Given the description of an element on the screen output the (x, y) to click on. 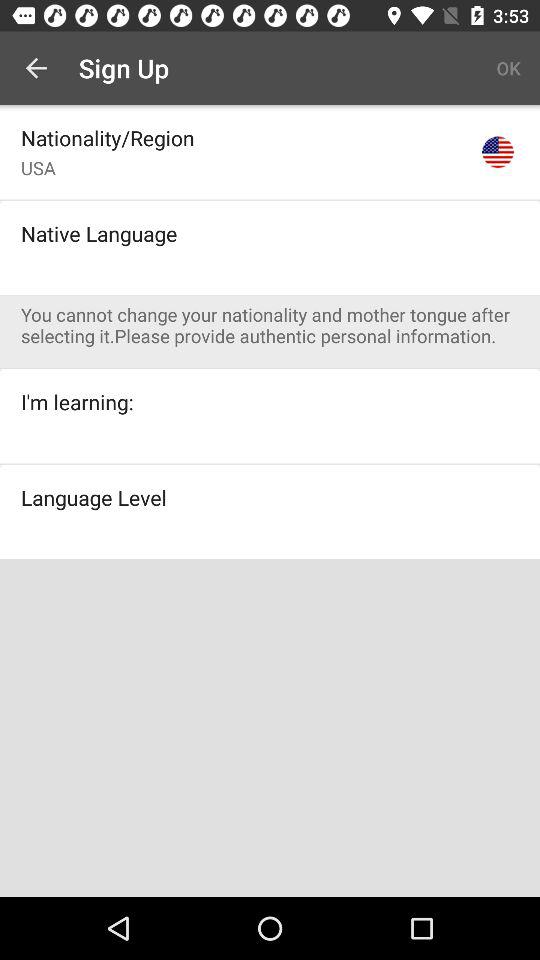
press app next to the sign up app (36, 68)
